Given the description of an element on the screen output the (x, y) to click on. 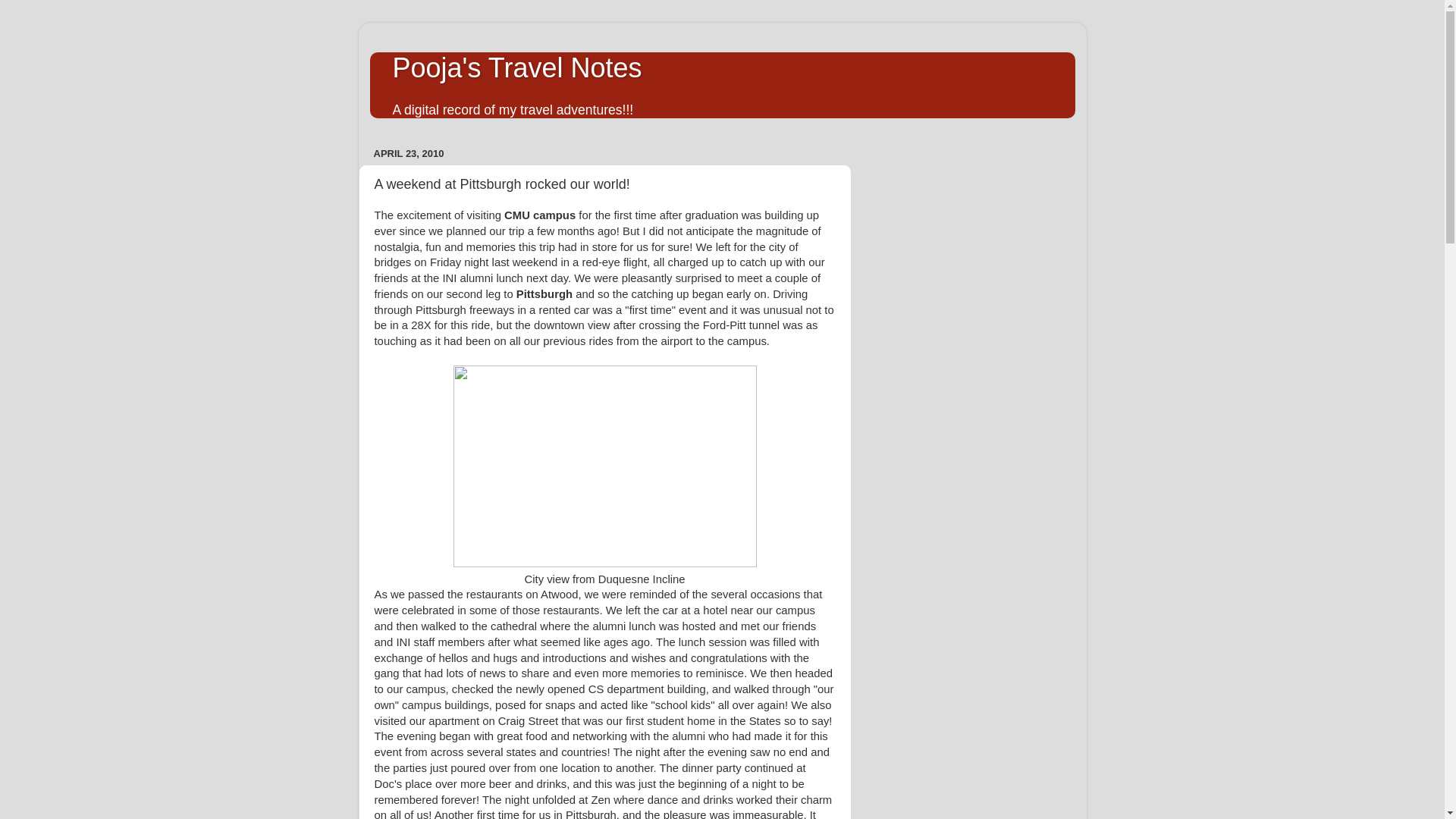
Pooja's Travel Notes (517, 67)
